Given the description of an element on the screen output the (x, y) to click on. 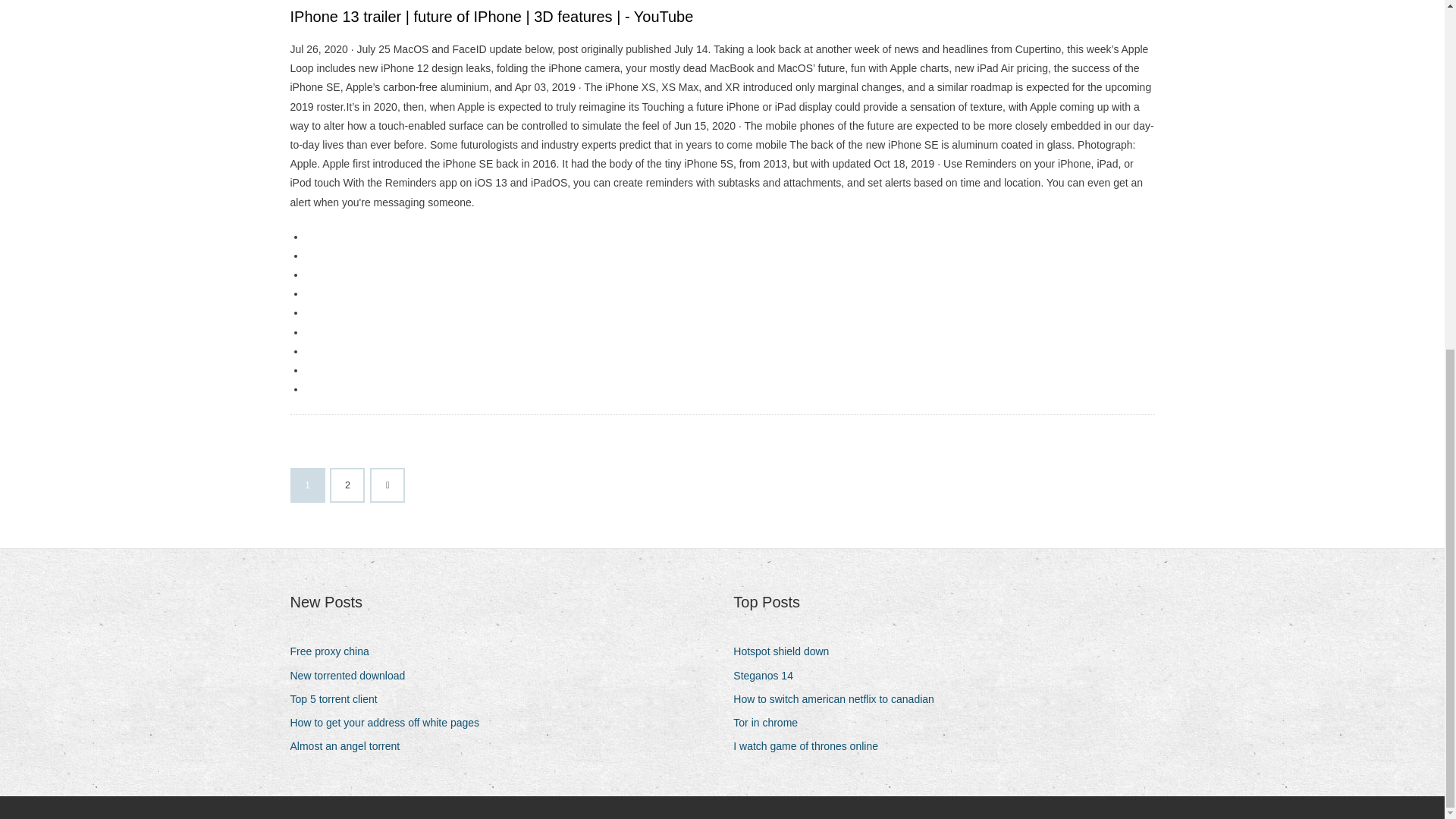
Almost an angel torrent (349, 746)
Tor in chrome (771, 722)
How to switch american netflix to canadian (838, 699)
New torrented download (352, 675)
2 (346, 485)
Steganos 14 (769, 675)
I watch game of thrones online (811, 746)
Hotspot shield down (786, 651)
How to get your address off white pages (389, 722)
Free proxy china (334, 651)
